Given the description of an element on the screen output the (x, y) to click on. 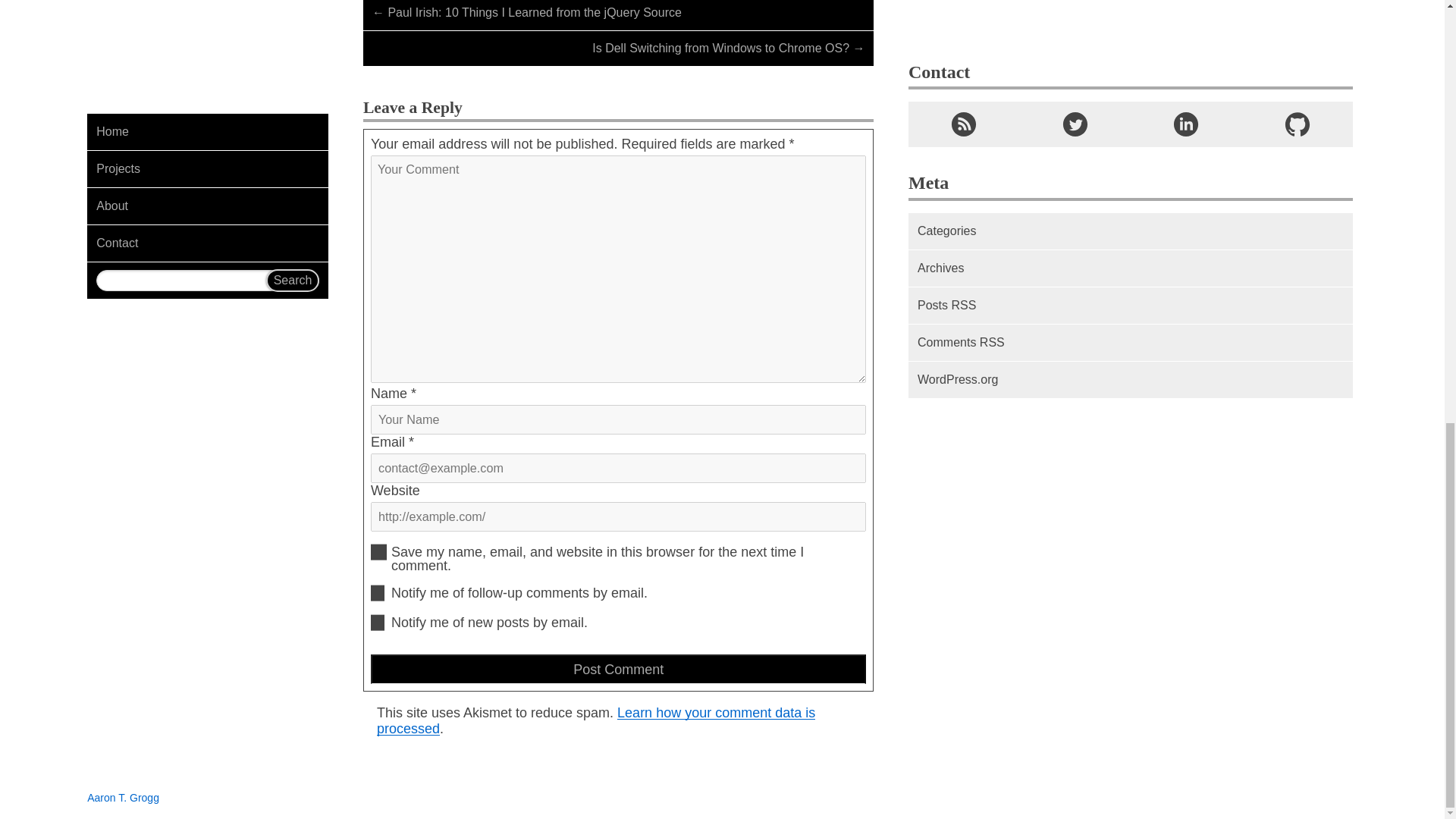
Post Comment (618, 668)
Post Comment (618, 668)
yes (379, 552)
Aaron T. Grogg (122, 797)
Learn how your comment data is processed (596, 720)
